Given the description of an element on the screen output the (x, y) to click on. 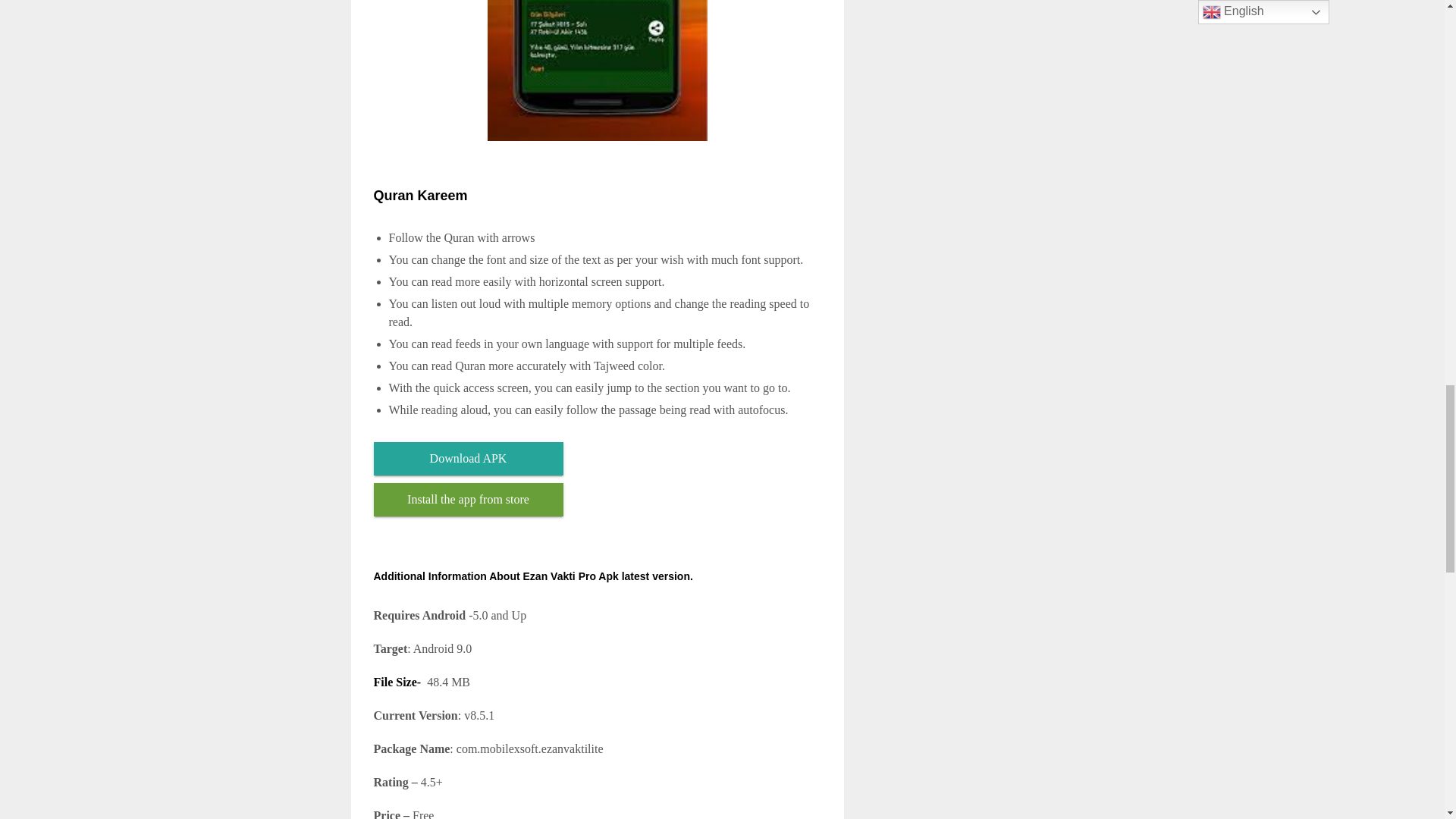
Install APK from Google Play (467, 499)
Download APK from APKFreeLoad (467, 458)
Download APK (467, 458)
Install the app from store (467, 499)
